Given the description of an element on the screen output the (x, y) to click on. 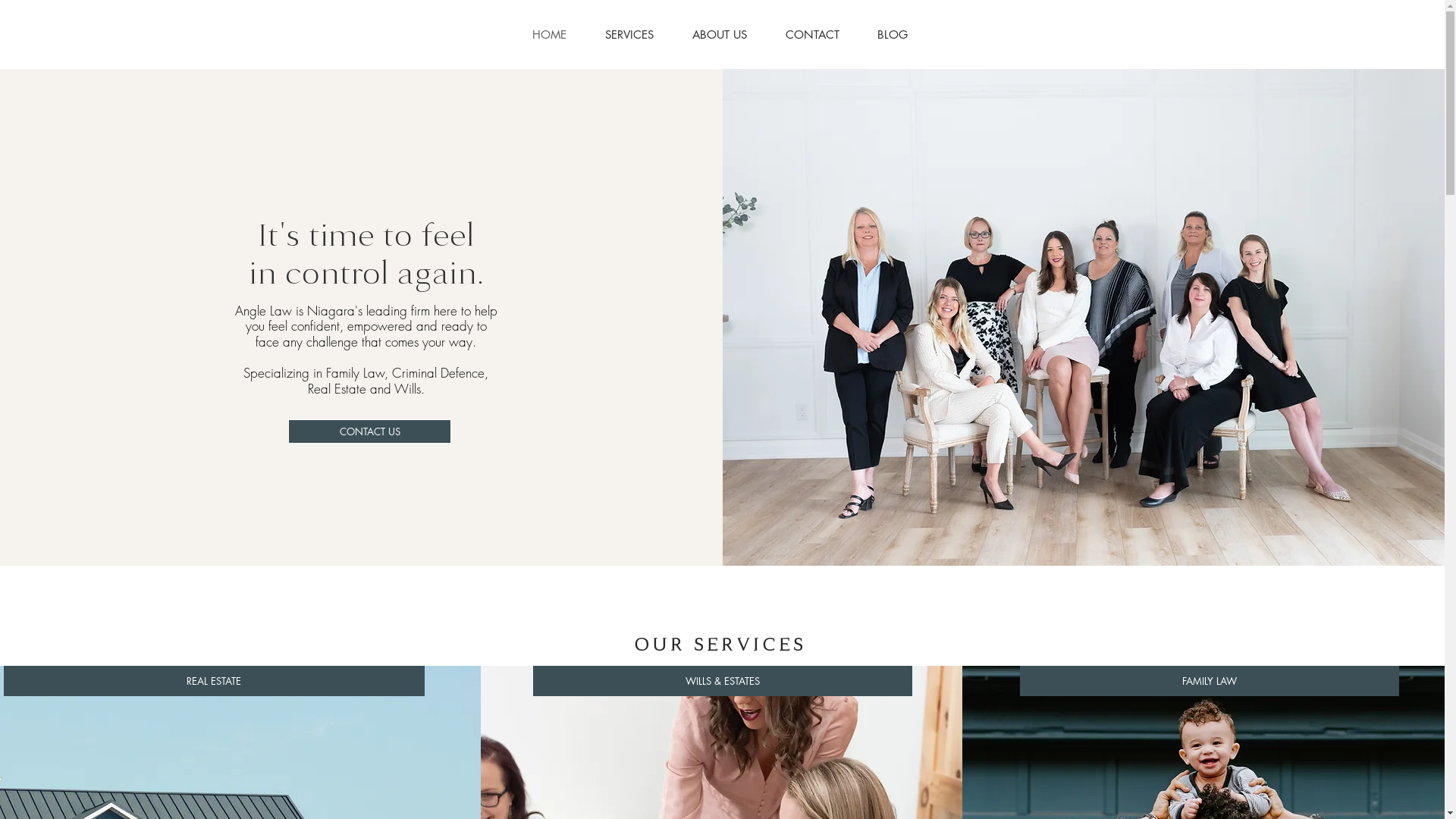
WILLS & ESTATES Element type: text (722, 680)
BLOG Element type: text (892, 34)
ABOUT US Element type: text (719, 34)
SERVICES Element type: text (628, 34)
CONTACT Element type: text (811, 34)
FAMILY LAW Element type: text (1209, 680)
REAL ESTATE Element type: text (213, 680)
CONTACT US Element type: text (369, 431)
HOME Element type: text (548, 34)
